Given the description of an element on the screen output the (x, y) to click on. 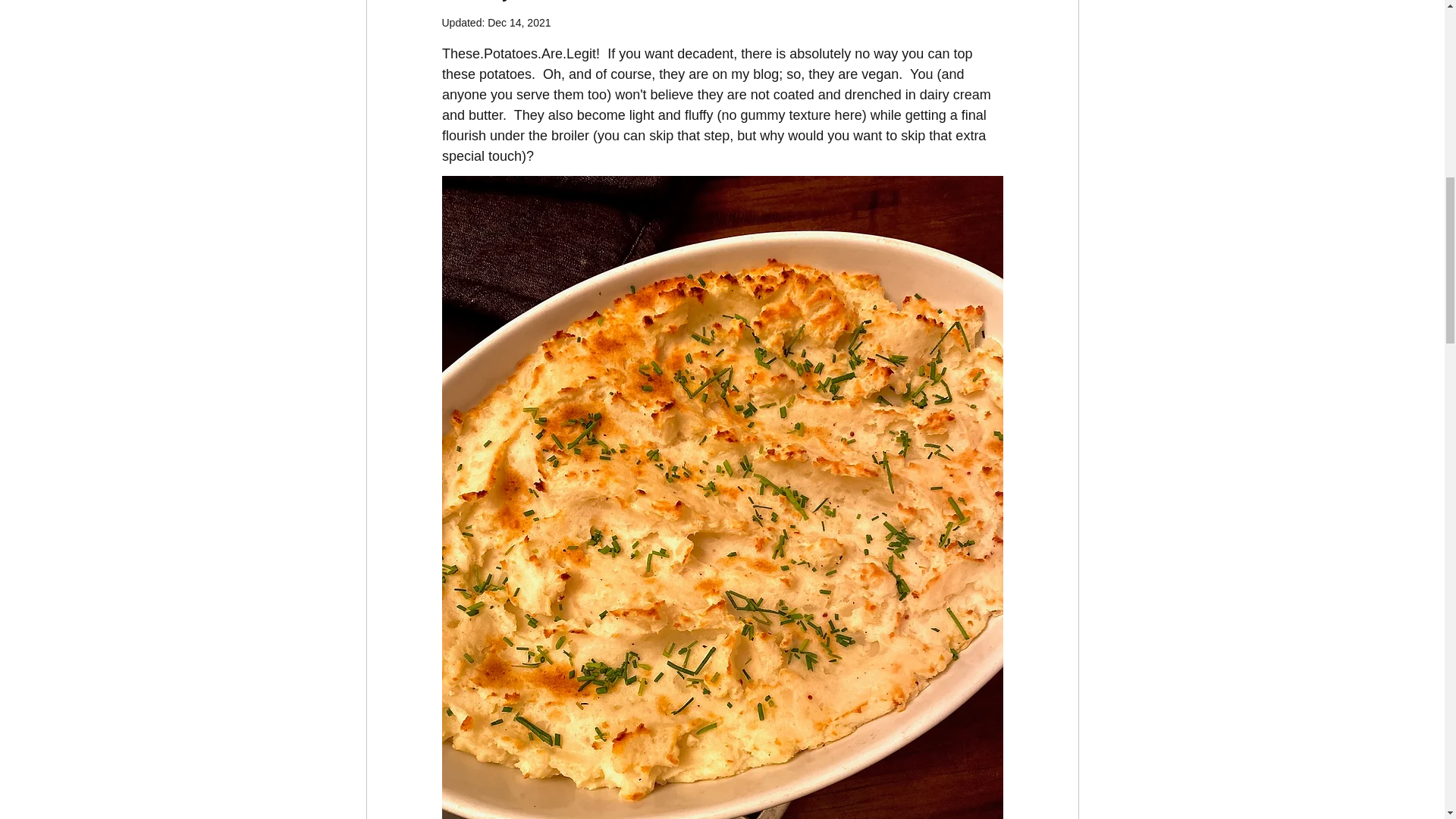
Dec 14, 2021 (518, 22)
